Given the description of an element on the screen output the (x, y) to click on. 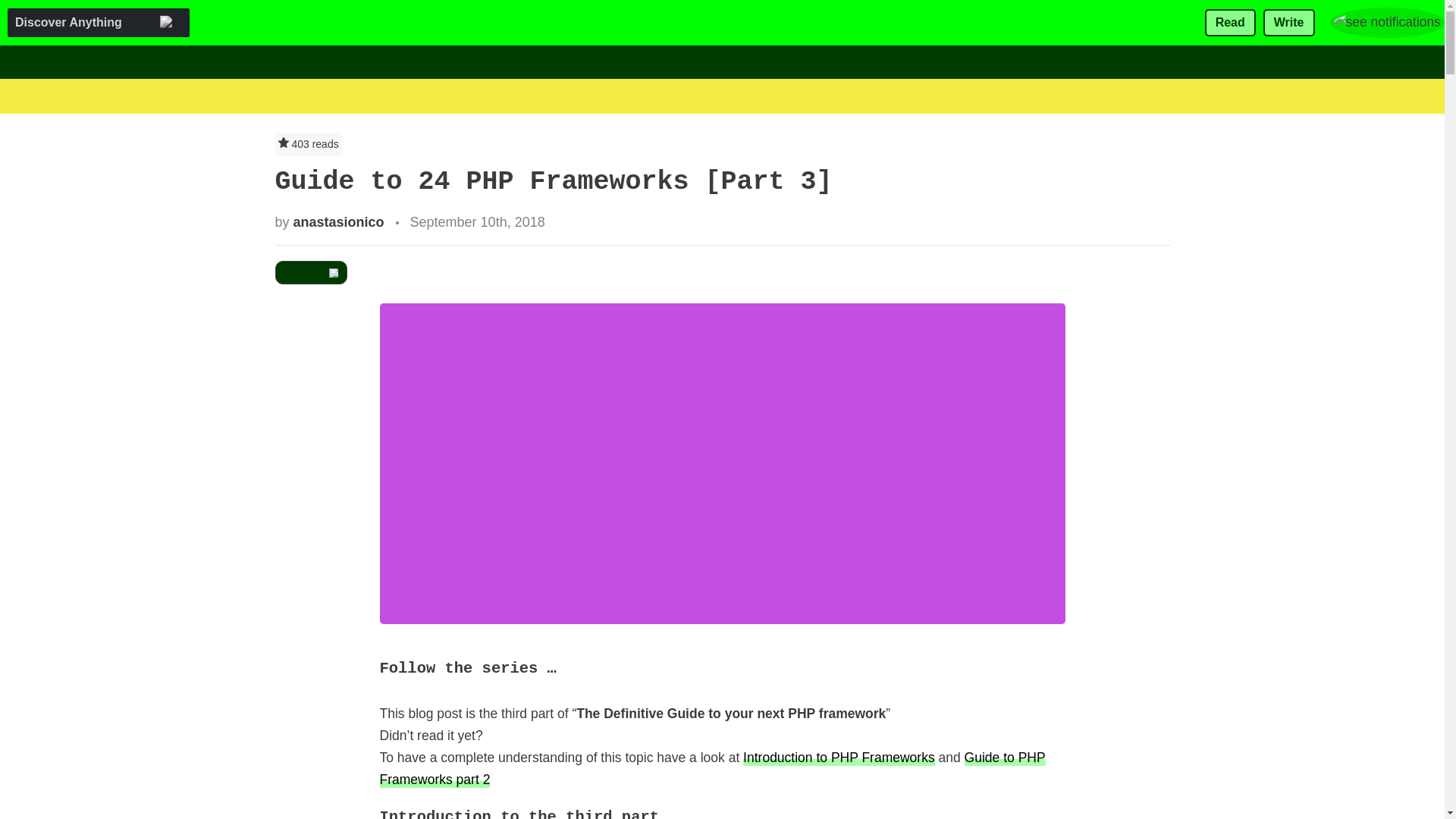
Guide to PHP Frameworks part 2 (711, 767)
Introduction to PHP Frameworks (838, 756)
anastasionico (339, 222)
Read (1230, 22)
Write (1288, 22)
